Given the description of an element on the screen output the (x, y) to click on. 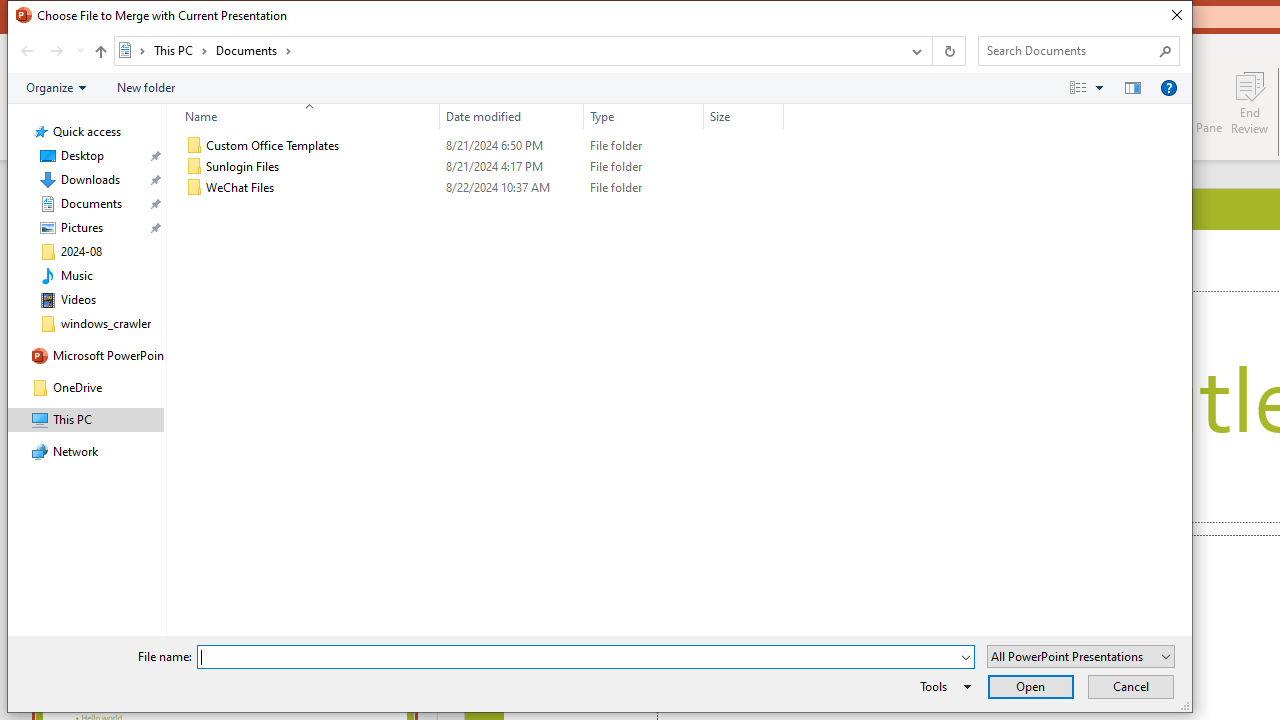
Date modified (511, 187)
